Given the description of an element on the screen output the (x, y) to click on. 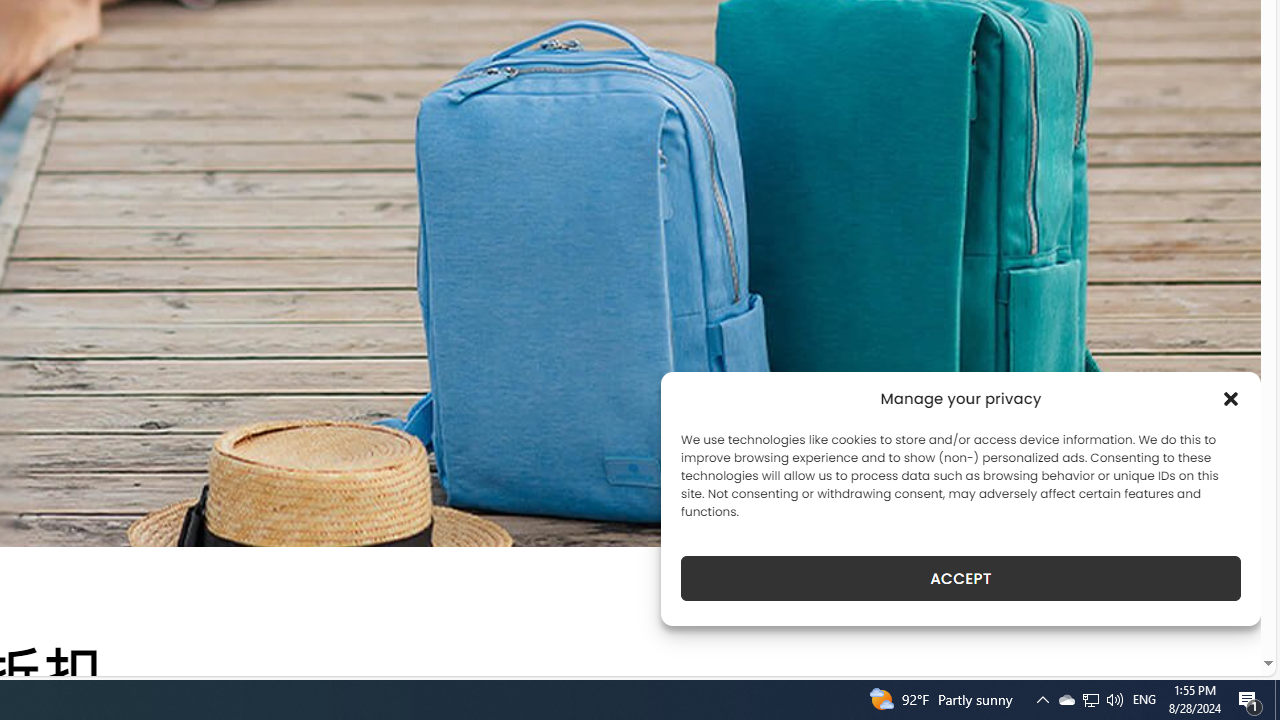
ACCEPT (960, 578)
Class: cmplz-close (1231, 398)
